Given the description of an element on the screen output the (x, y) to click on. 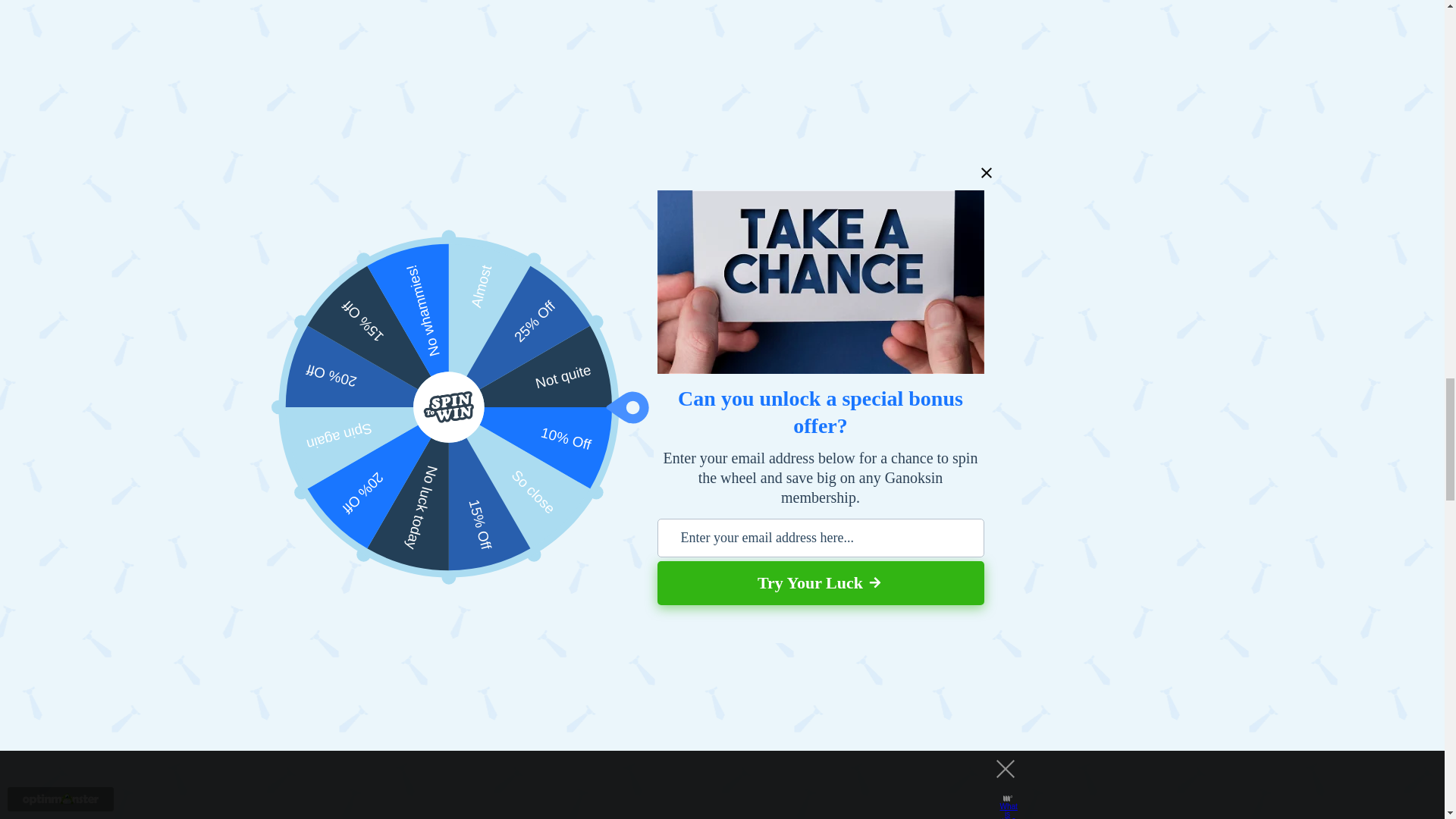
Charles Lewton-Brain (616, 425)
3rd party ad content (554, 117)
Charles Lewton-Brain (478, 407)
Brain Press Publications (640, 407)
Charles Lewton-Brain (683, 461)
